Given the description of an element on the screen output the (x, y) to click on. 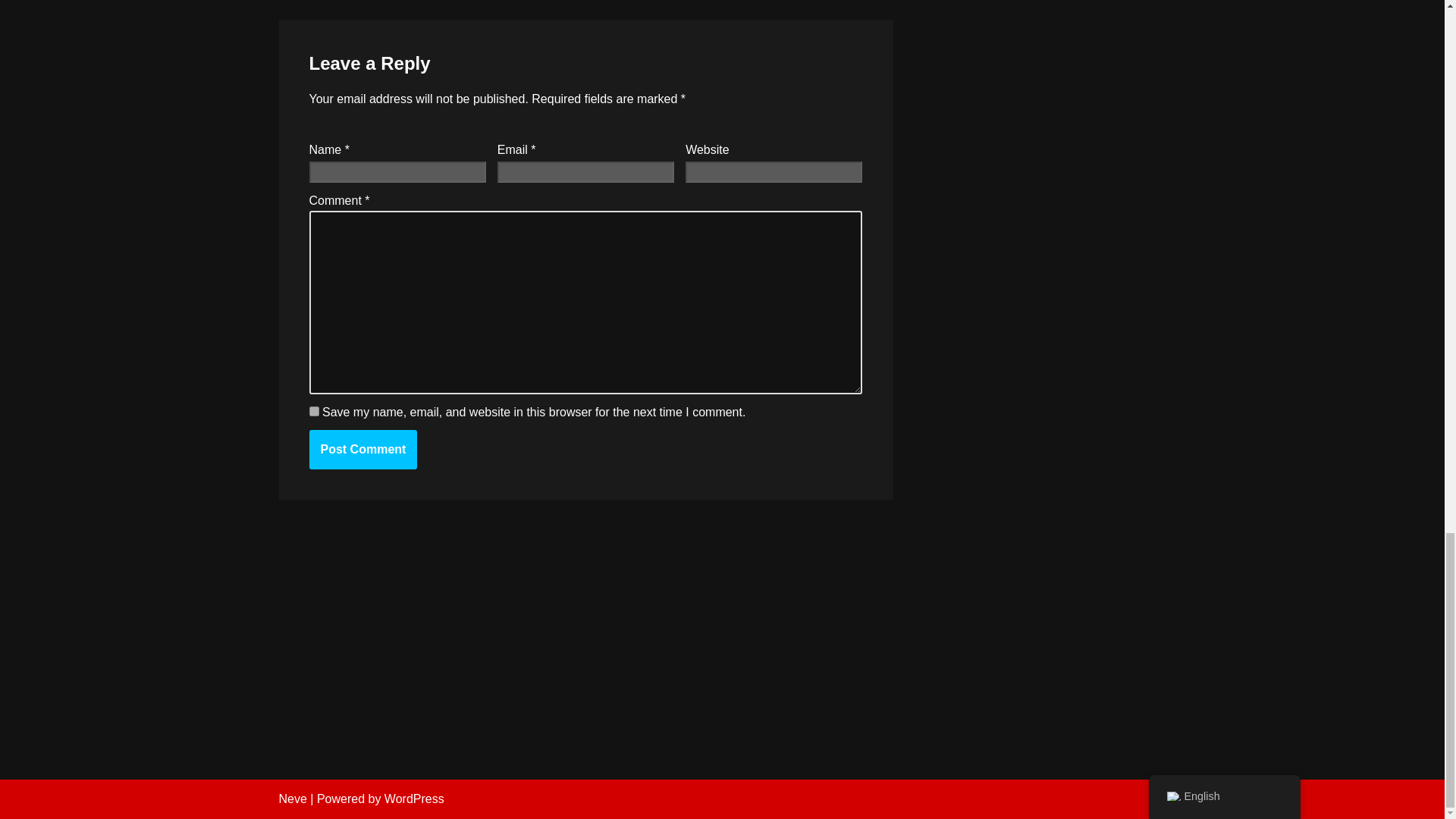
Post Comment (362, 449)
yes (313, 411)
